Given the description of an element on the screen output the (x, y) to click on. 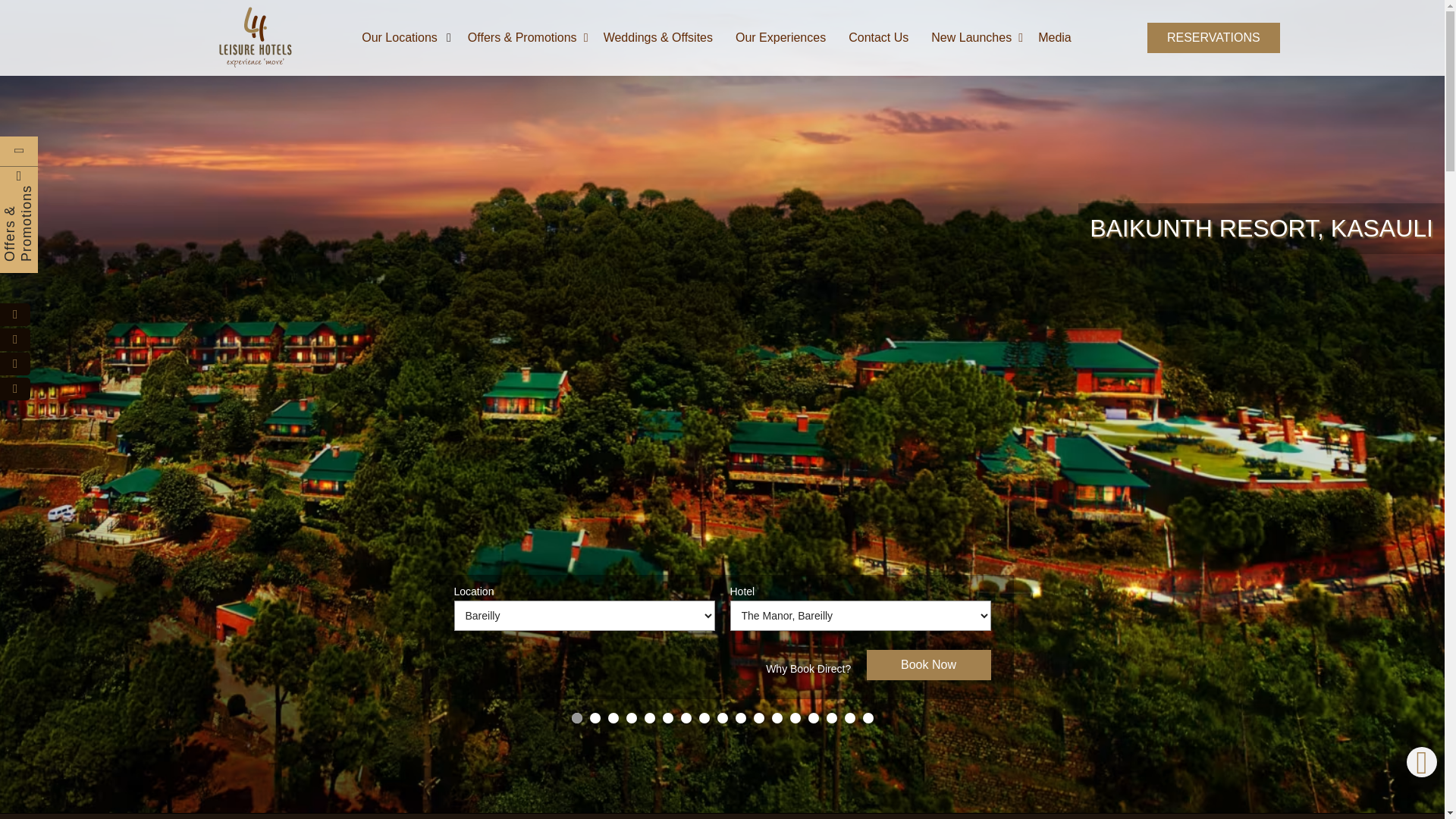
Our Locations (409, 38)
RESERVATIONS (1213, 37)
Book Now (928, 665)
